Given the description of an element on the screen output the (x, y) to click on. 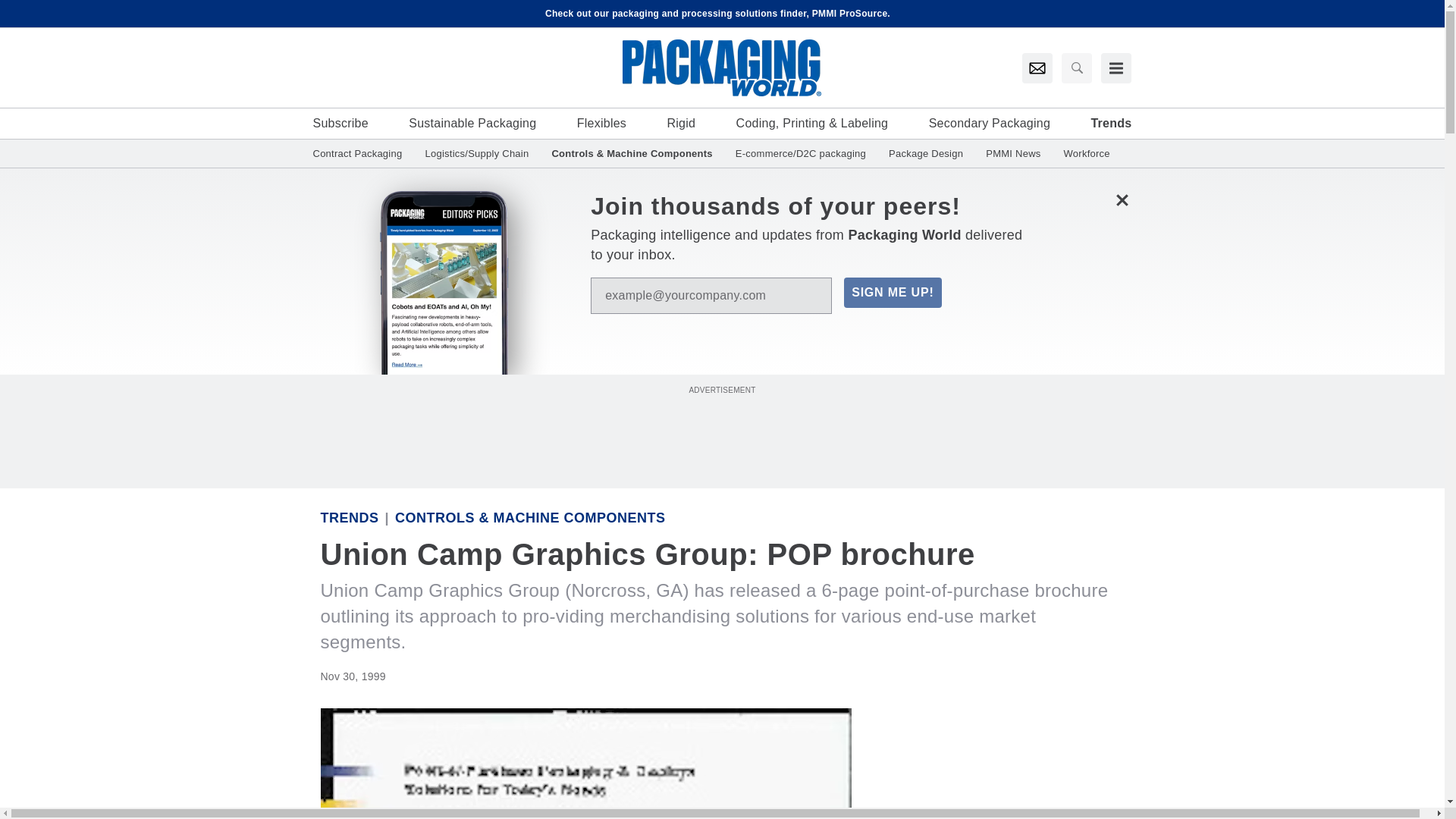
Rigid (680, 123)
Contract Packaging (363, 153)
Package Design (925, 153)
Trends (1110, 123)
Subscribe (340, 123)
Flexibles (601, 123)
Trends (349, 517)
PMMI News (1012, 153)
Secondary Packaging (988, 123)
Workforce (1080, 153)
SIGN ME UP! (892, 292)
Sustainable Packaging (472, 123)
